Given the description of an element on the screen output the (x, y) to click on. 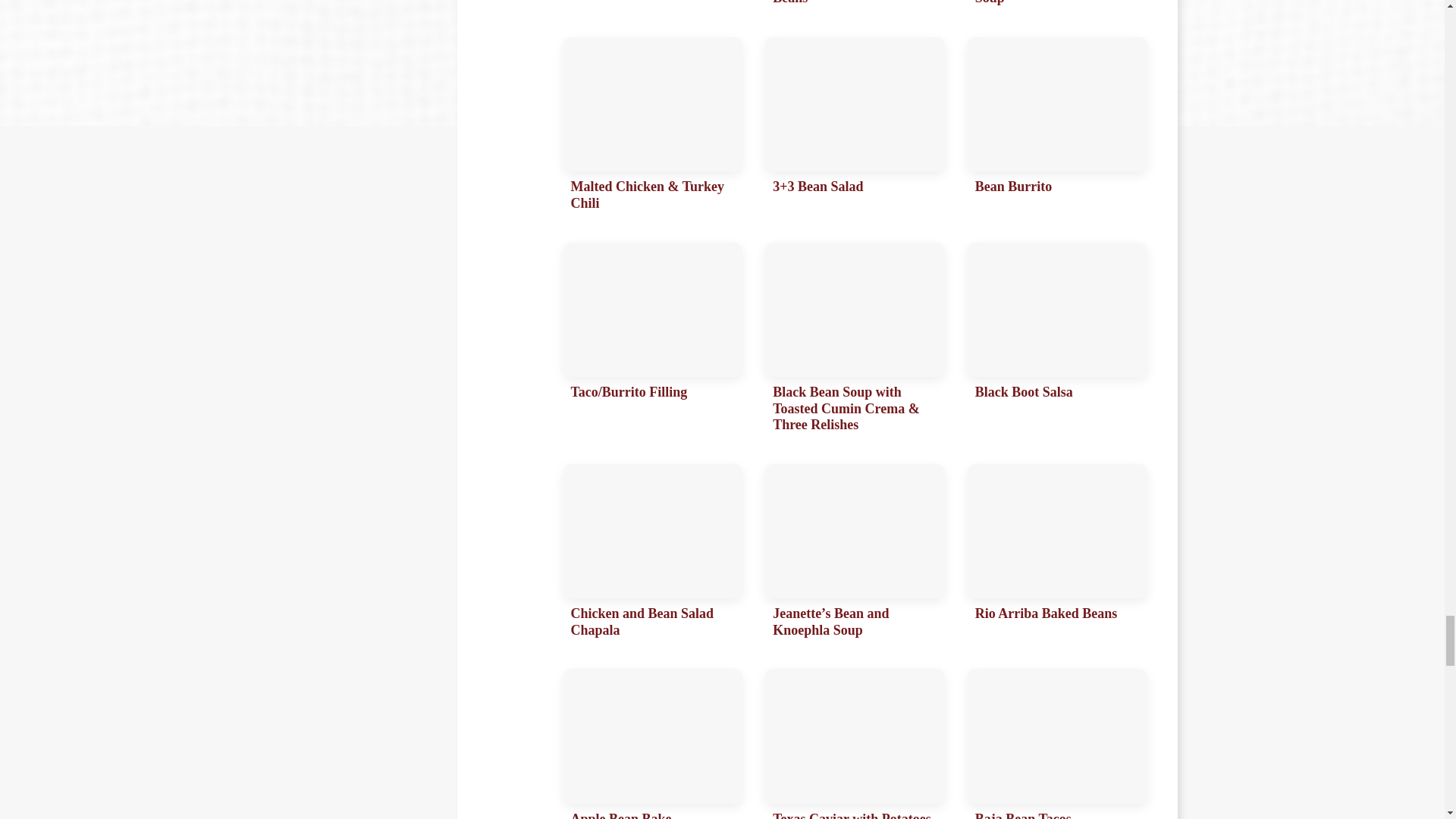
Rio Arriba Baked Beans (1057, 555)
Tempeh Chili (652, 7)
Jamaican Jerk BBQ Baked Beans (854, 7)
Baja Bean Tacos (1057, 744)
Apple Bean Bake (652, 744)
Chicken and Bean Salad Chapala (652, 555)
Bean Burrito (1057, 128)
Checkered Black Bean Soup (1057, 7)
Black Boot Salsa (1057, 341)
Texas Caviar with Potatoes (854, 744)
